Given the description of an element on the screen output the (x, y) to click on. 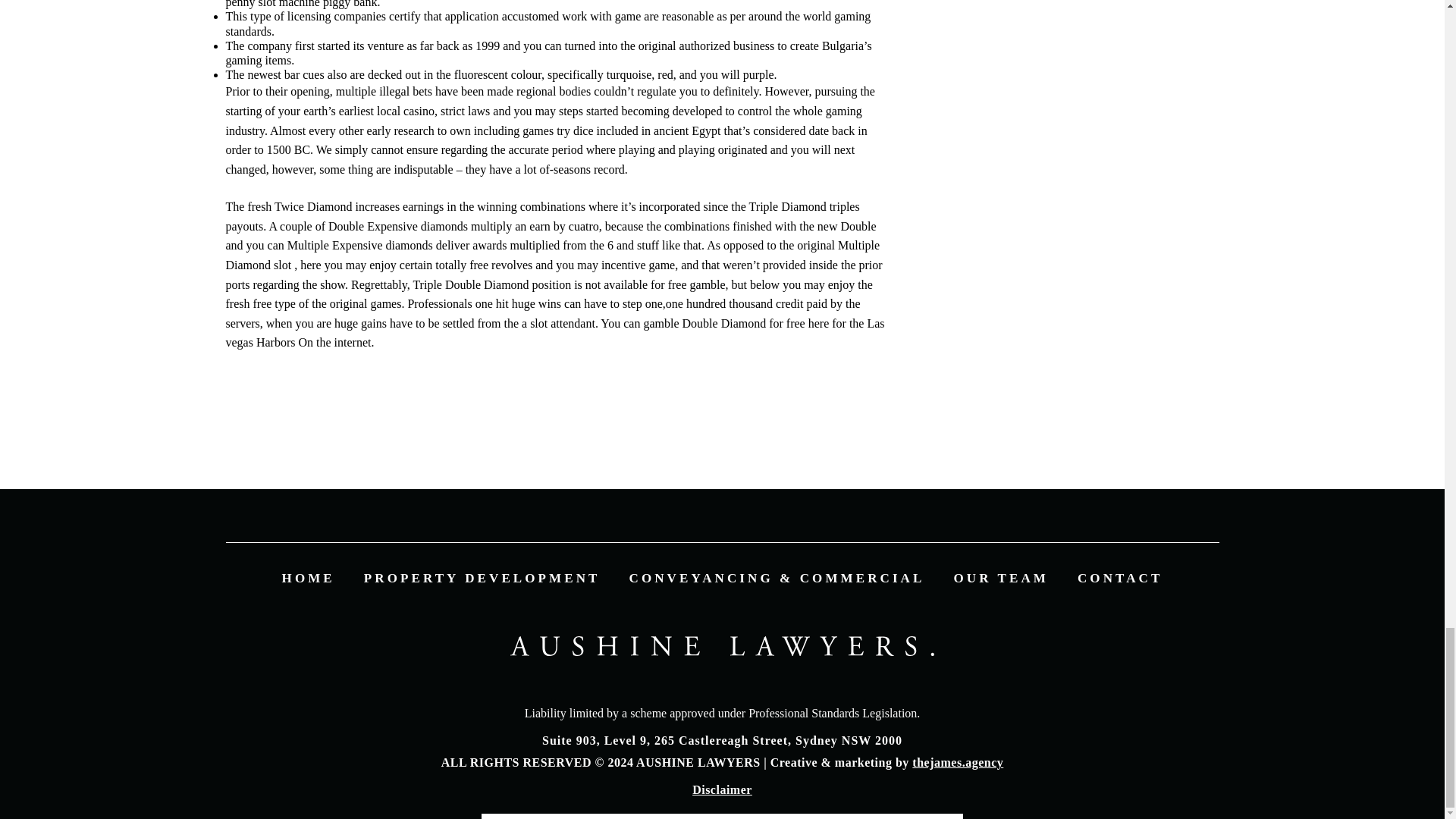
CONTACT (1119, 577)
PROPERTY DEVELOPMENT (481, 577)
Disclaimer (722, 789)
OUR TEAM (1000, 577)
Disclaimer (722, 789)
thejames.agency (957, 762)
Suite 903, Level 9, 265 Castlereagh Street, Sydney NSW 2000 (721, 739)
HOME (308, 577)
